Given the description of an element on the screen output the (x, y) to click on. 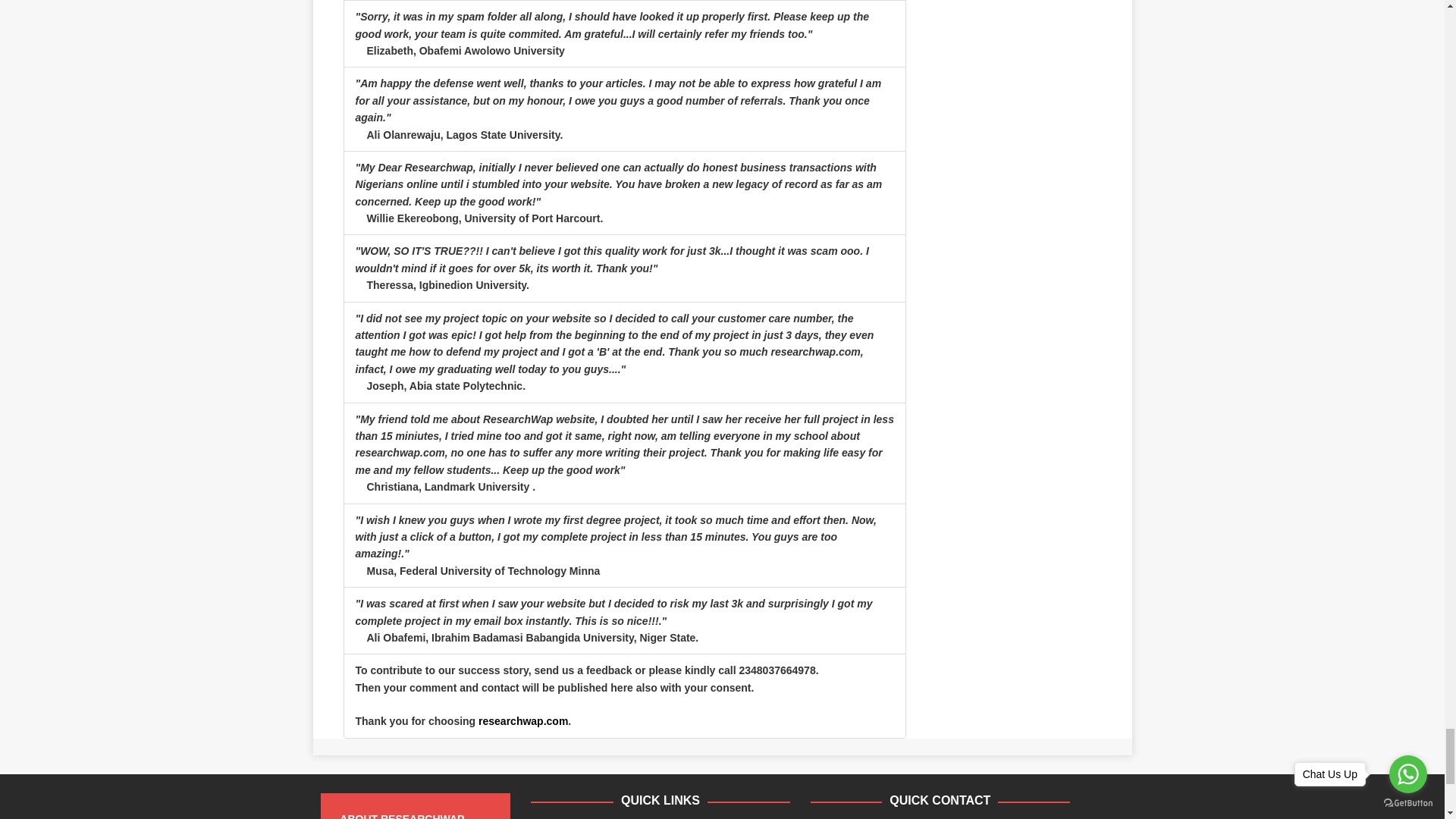
researchwap.com (523, 720)
